Given the description of an element on the screen output the (x, y) to click on. 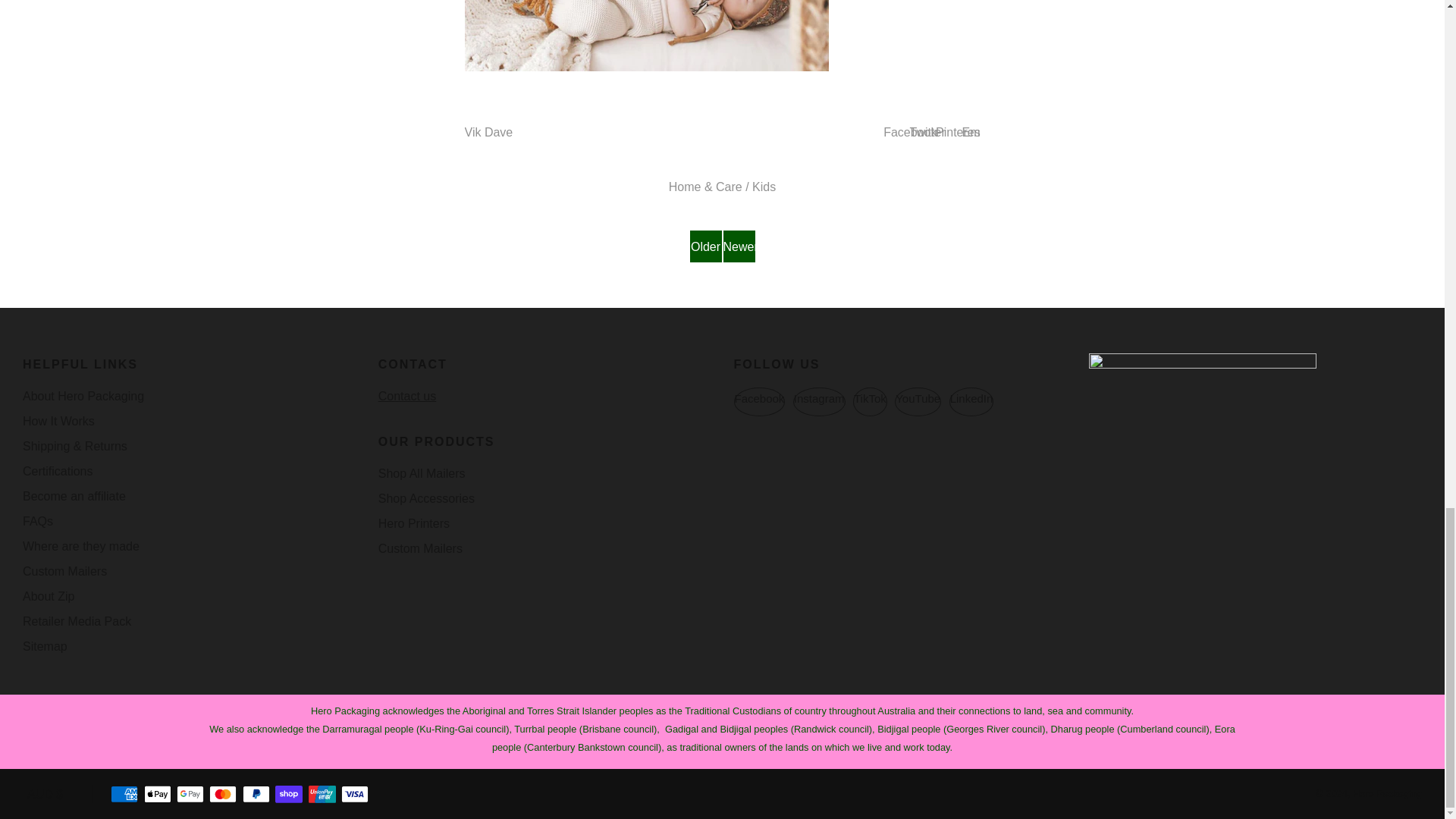
Show articles tagged Kids (764, 186)
Contact Us (406, 395)
